Given the description of an element on the screen output the (x, y) to click on. 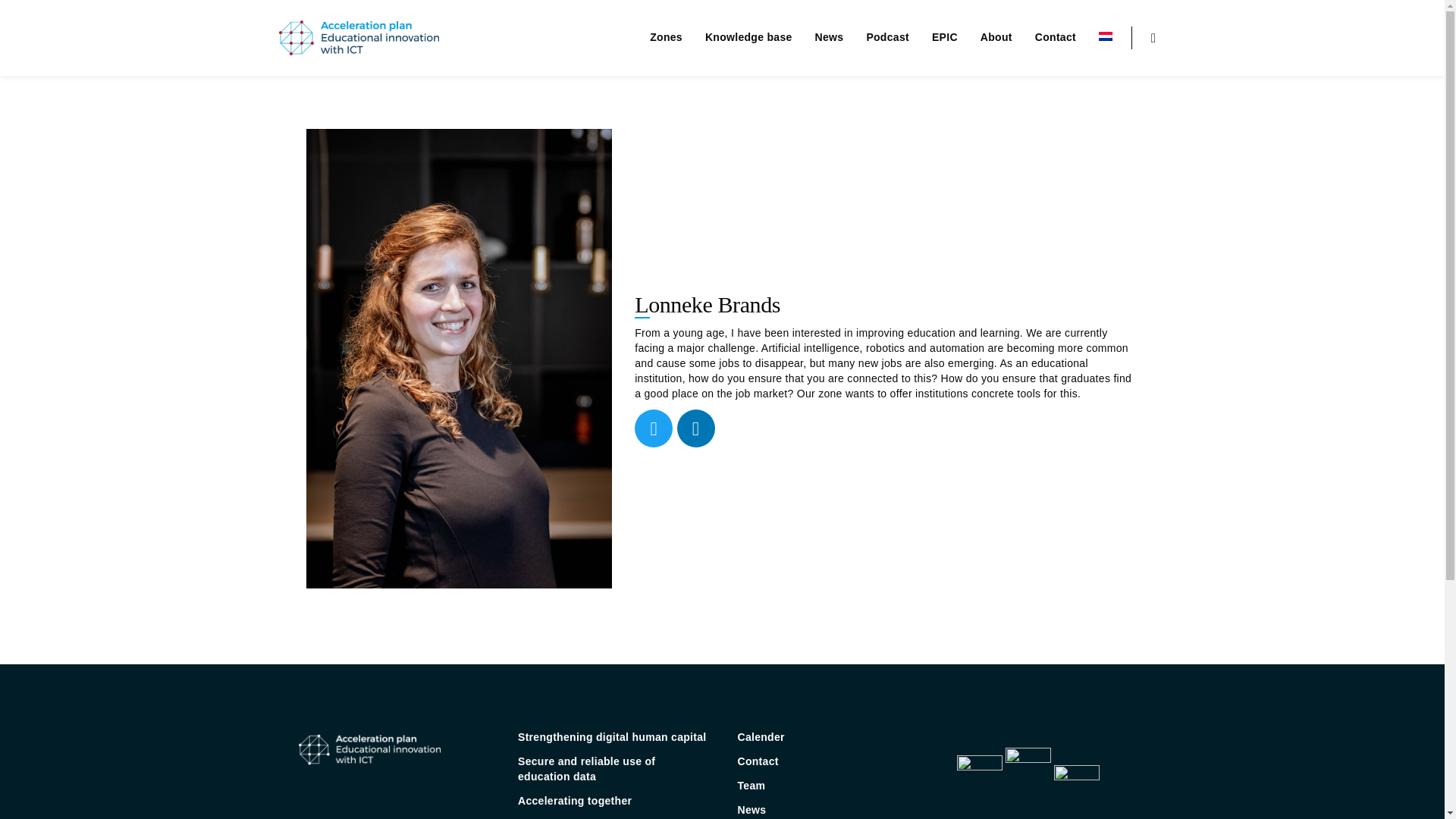
Zones (665, 37)
Knowledge base (748, 37)
